Given the description of an element on the screen output the (x, y) to click on. 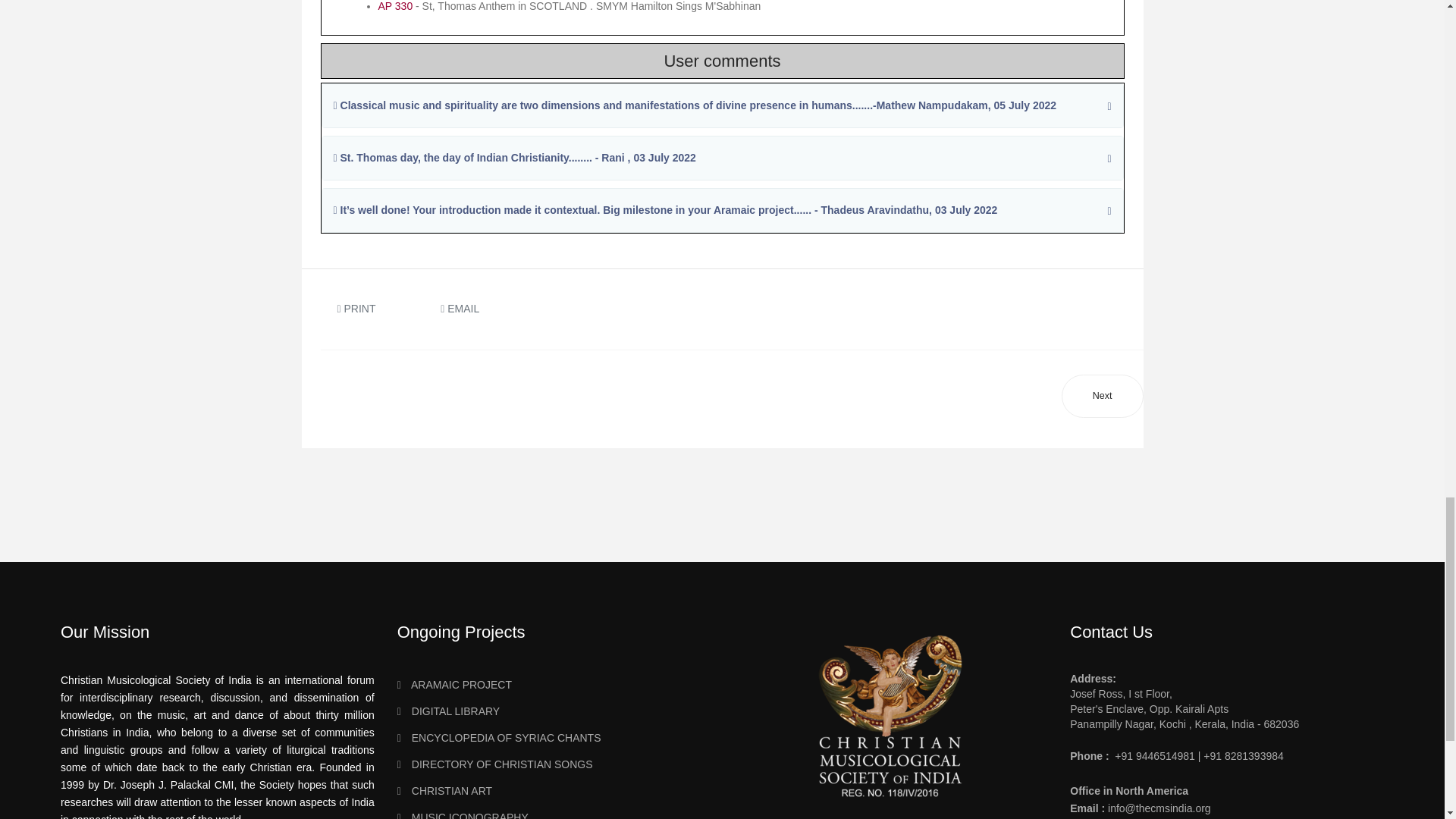
DIGITAL LIBRARY (554, 711)
Email this link to a friend (459, 308)
